Given the description of an element on the screen output the (x, y) to click on. 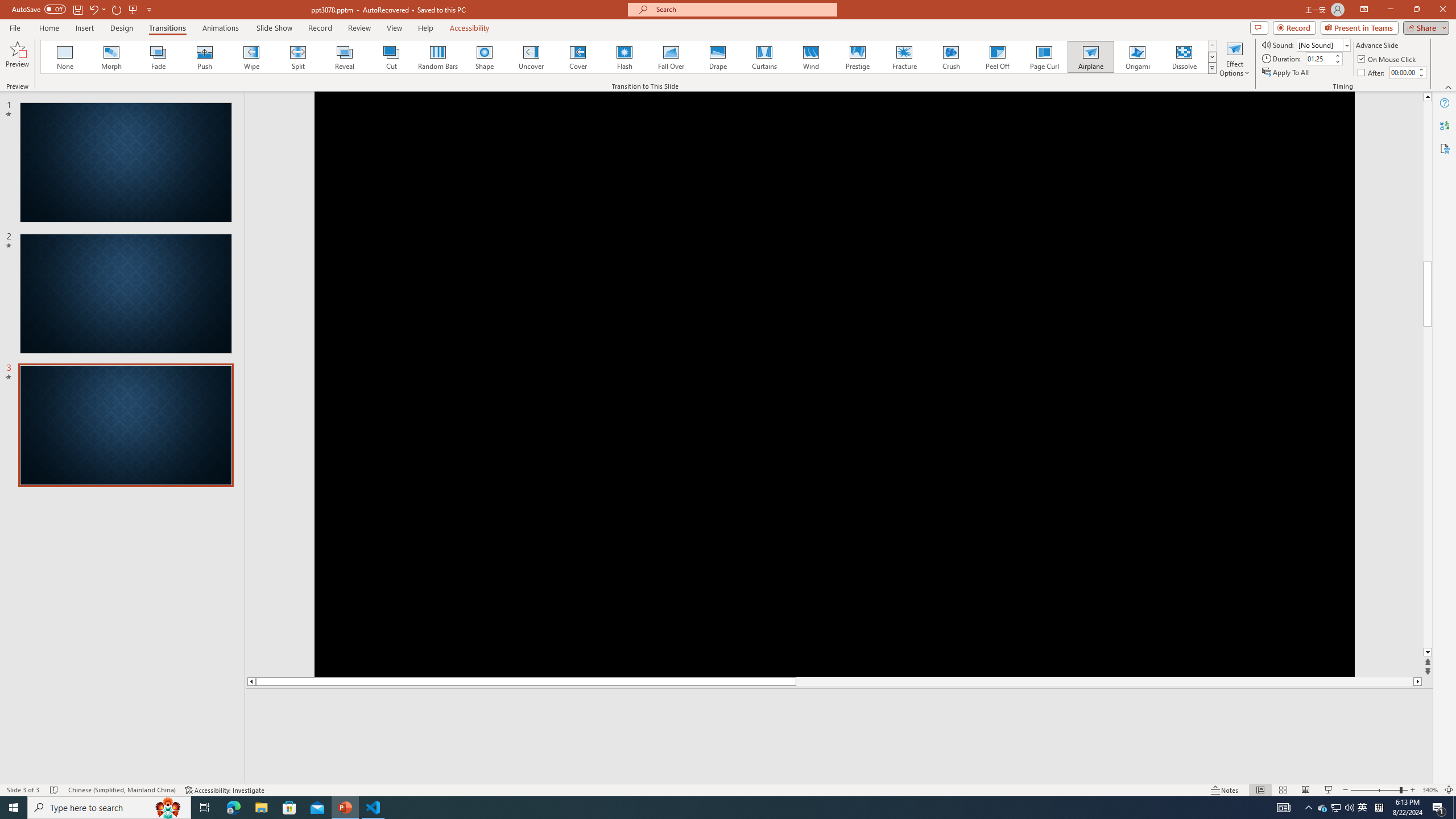
AutomationID: AnimationTransitionGallery (628, 56)
Page Curl (1043, 56)
Zoom 340% (1430, 790)
Airplane (1090, 56)
Crush (950, 56)
Reveal (344, 56)
